Given the description of an element on the screen output the (x, y) to click on. 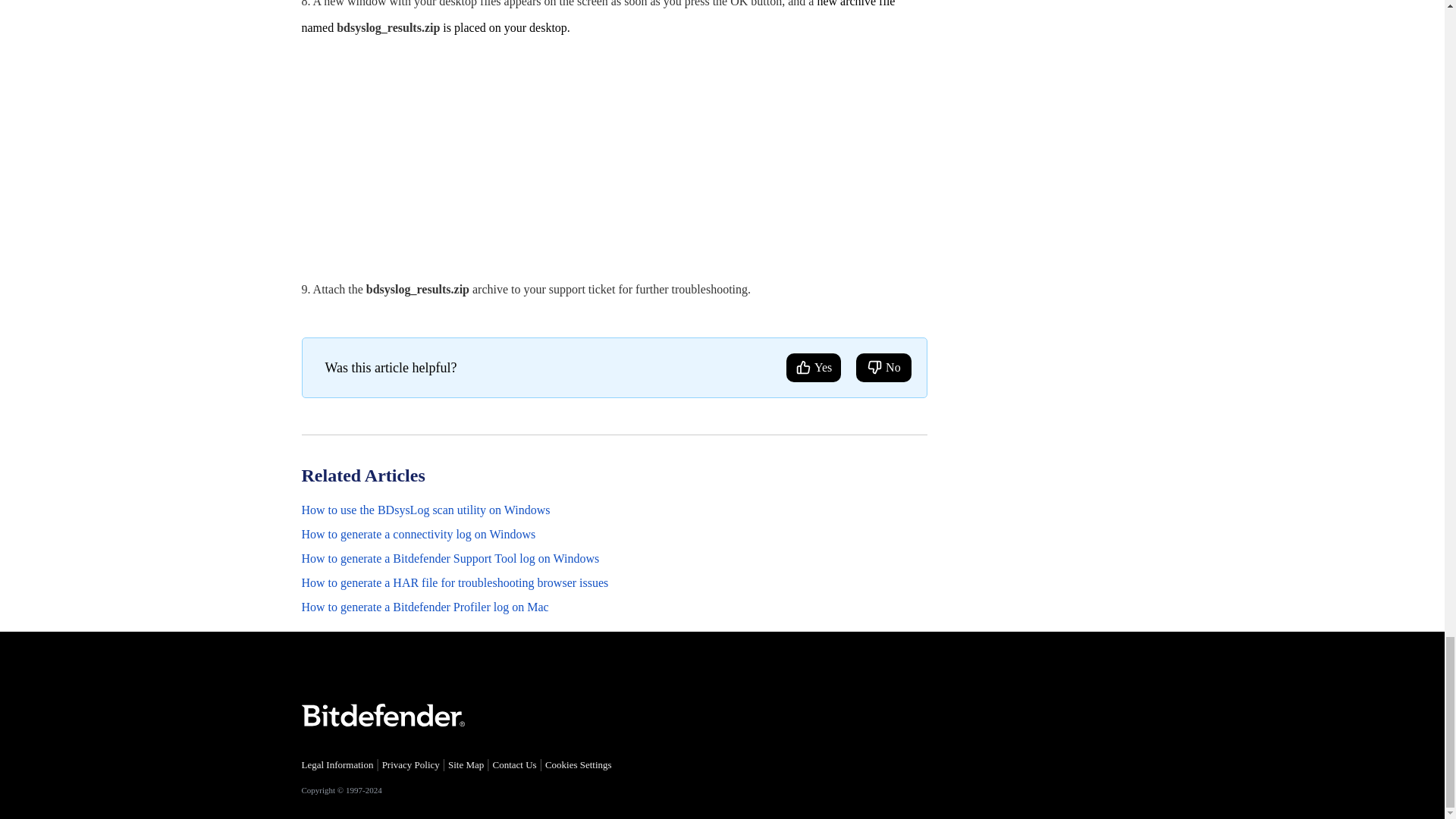
How to generate a Bitdefender Profiler log on Mac (424, 606)
How to generate a connectivity log on Windows (418, 533)
How to use the BDsysLog scan utility on Windows (425, 509)
How to generate a Bitdefender Support Tool log on Windows (450, 558)
